Given the description of an element on the screen output the (x, y) to click on. 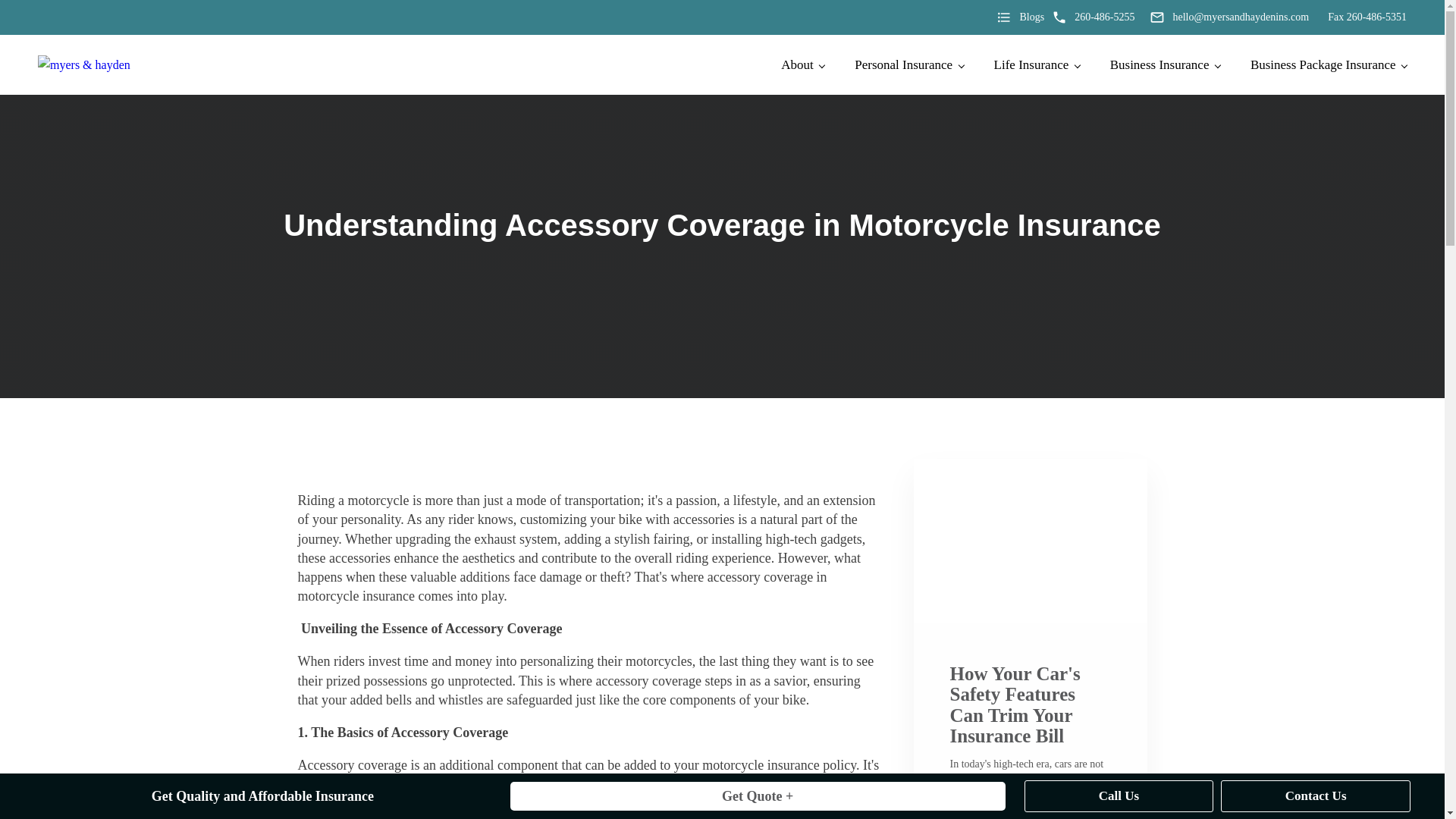
260-486-5255 (1092, 17)
Blogs (1019, 17)
Business Package Insurance (1328, 64)
About (802, 64)
Personal Insurance (909, 64)
Life Insurance (1036, 64)
Business Insurance (1164, 64)
